Given the description of an element on the screen output the (x, y) to click on. 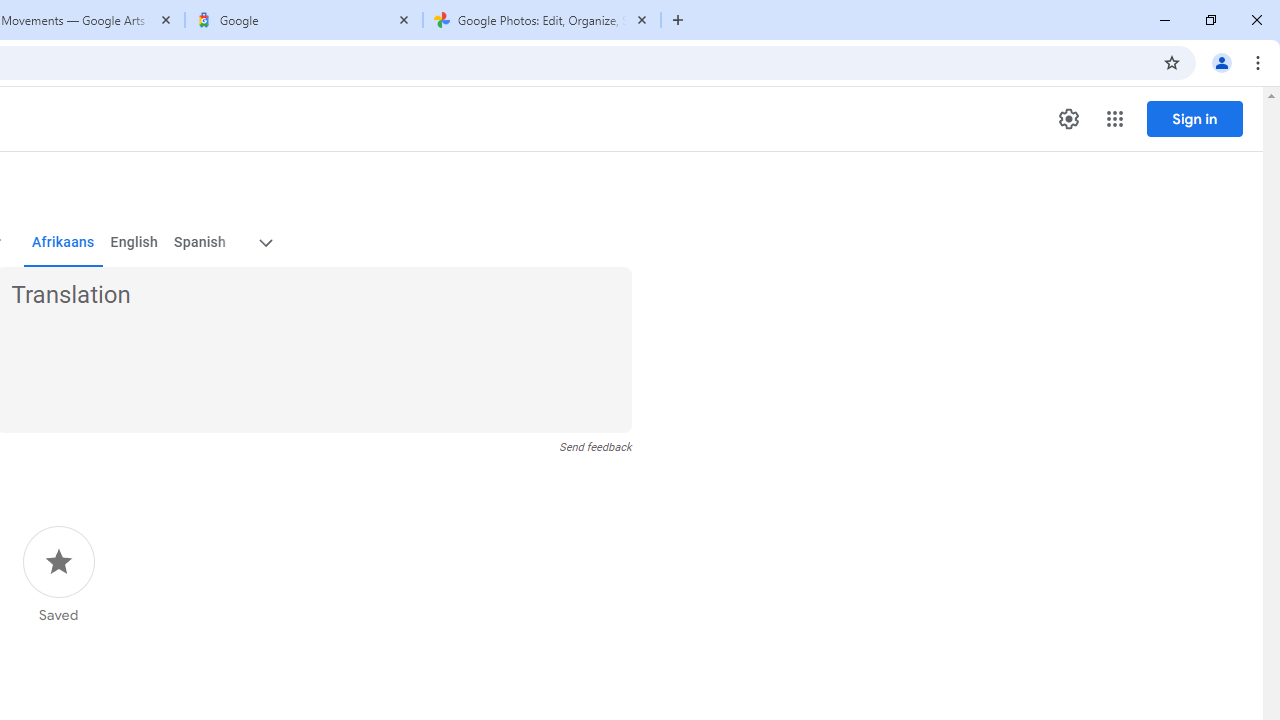
Send feedback (595, 447)
More target languages (264, 242)
Afrikaans (62, 242)
Google (304, 20)
Saved (57, 575)
Spanish (199, 242)
